Given the description of an element on the screen output the (x, y) to click on. 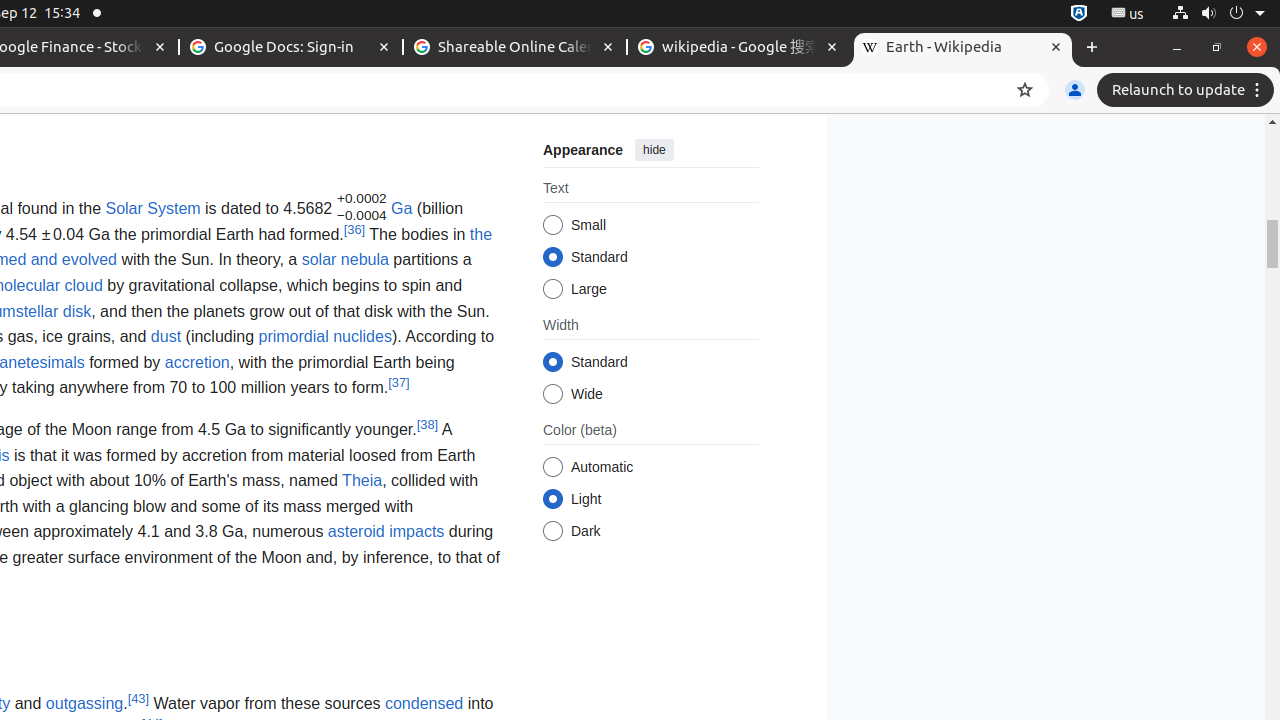
:1.72/StatusNotifierItem Element type: menu (1079, 13)
[36] Element type: link (354, 229)
Shareable Online Calendar and Scheduling - Google Calendar - Memory usage - 88.5 MB Element type: page-tab (515, 47)
Standard Element type: radio-button (552, 362)
asteroid impacts Element type: link (386, 532)
